Given the description of an element on the screen output the (x, y) to click on. 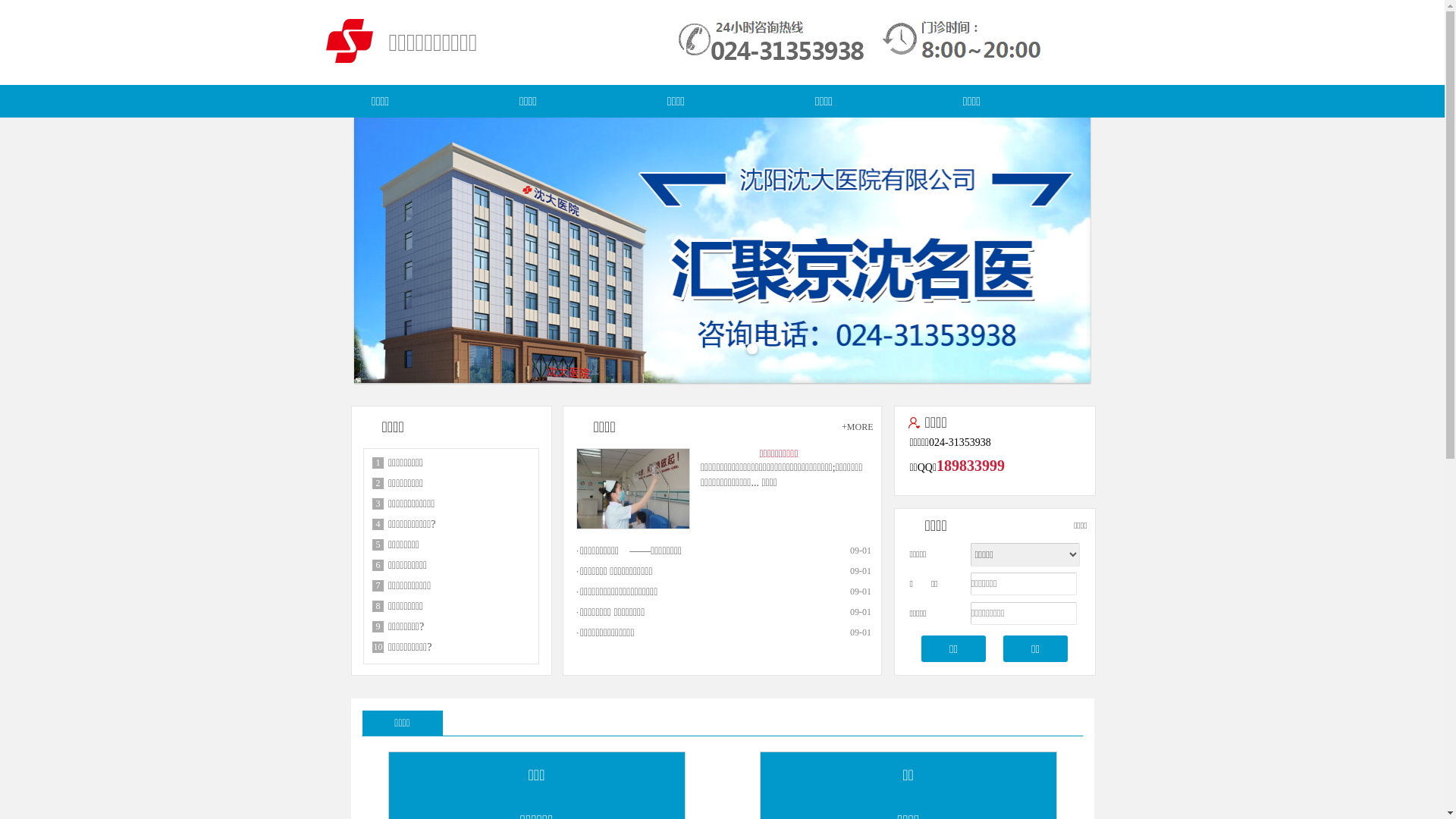
+MORE Element type: text (856, 426)
